Given the description of an element on the screen output the (x, y) to click on. 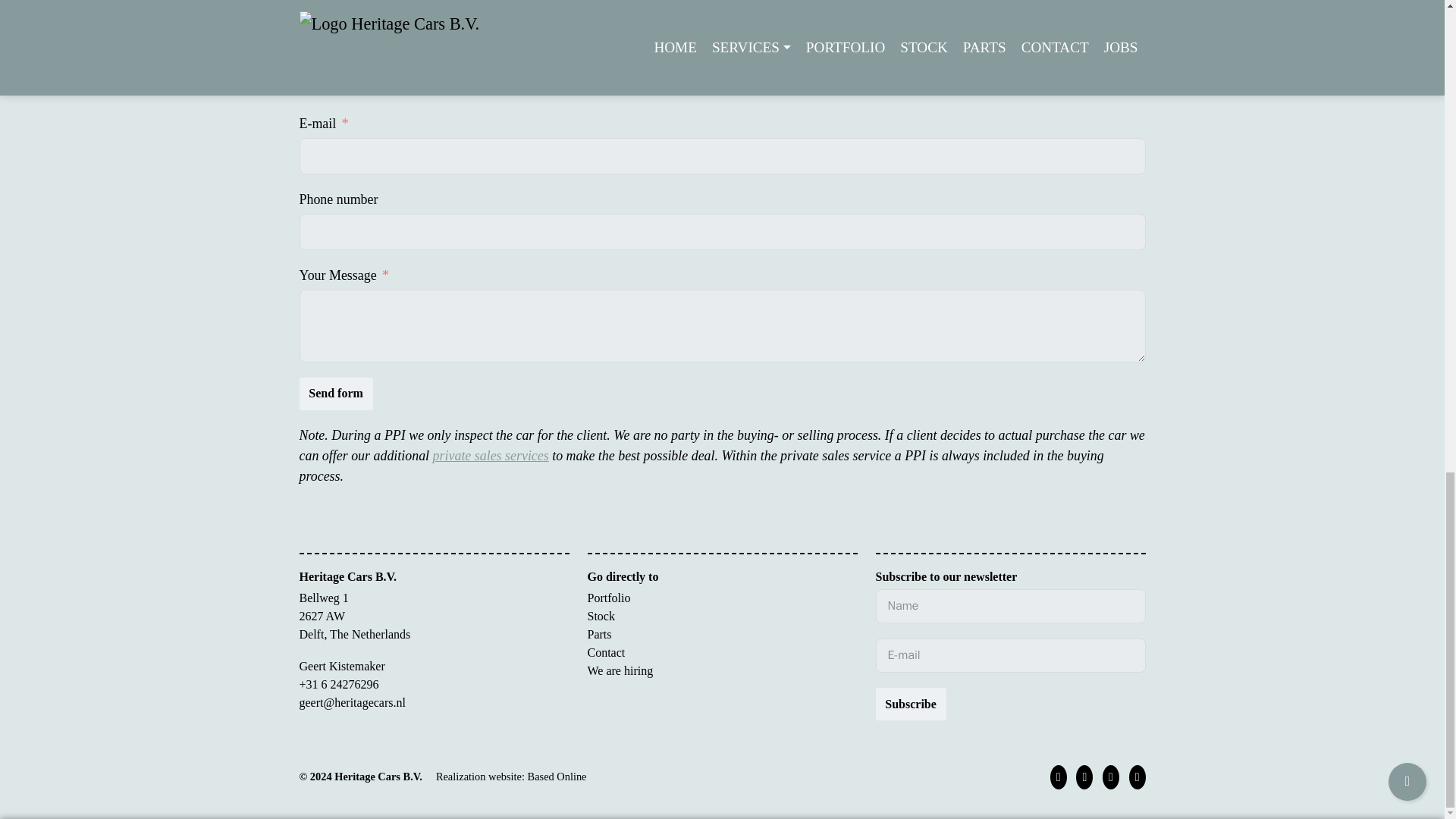
Facebook from Heritage Cars B.V. (1058, 776)
Contact (605, 652)
Send form (335, 393)
Subscribe (909, 703)
LinkedIn from Heritage Cars B.V. (1084, 776)
Parts (598, 634)
Instagram from Heritage Cars B.V. (1110, 776)
We are hiring (619, 670)
Portfolio (608, 597)
Stock (600, 615)
Based Online (556, 776)
YouTube from Heritage Cars B.V. (1137, 776)
private sales services (490, 455)
